Given the description of an element on the screen output the (x, y) to click on. 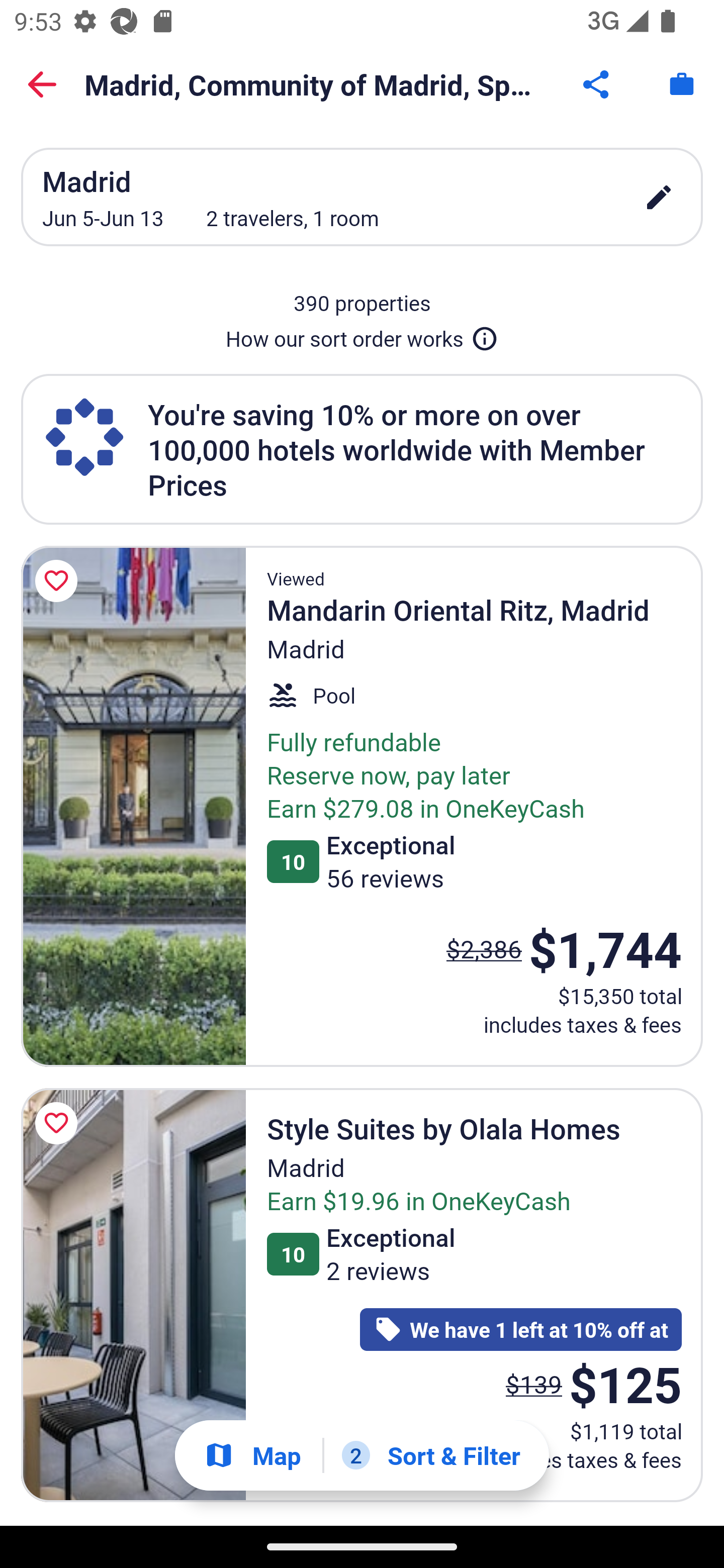
Back (42, 84)
Share Button (597, 84)
Trips. Button (681, 84)
Madrid Jun 5-Jun 13 2 travelers, 1 room edit (361, 196)
How our sort order works (361, 334)
Save Mandarin Oriental Ritz, Madrid to a trip (59, 580)
Mandarin Oriental Ritz, Madrid (133, 805)
$2,386 The price was $2,386 (483, 948)
Save Style Suites by Olala Homes to a trip (59, 1122)
Style Suites by Olala Homes (133, 1295)
$139 The price was $139 (533, 1384)
2 Sort & Filter 2 Filters applied. Filters Button (430, 1455)
Show map Map Show map Button (252, 1455)
